Given the description of an element on the screen output the (x, y) to click on. 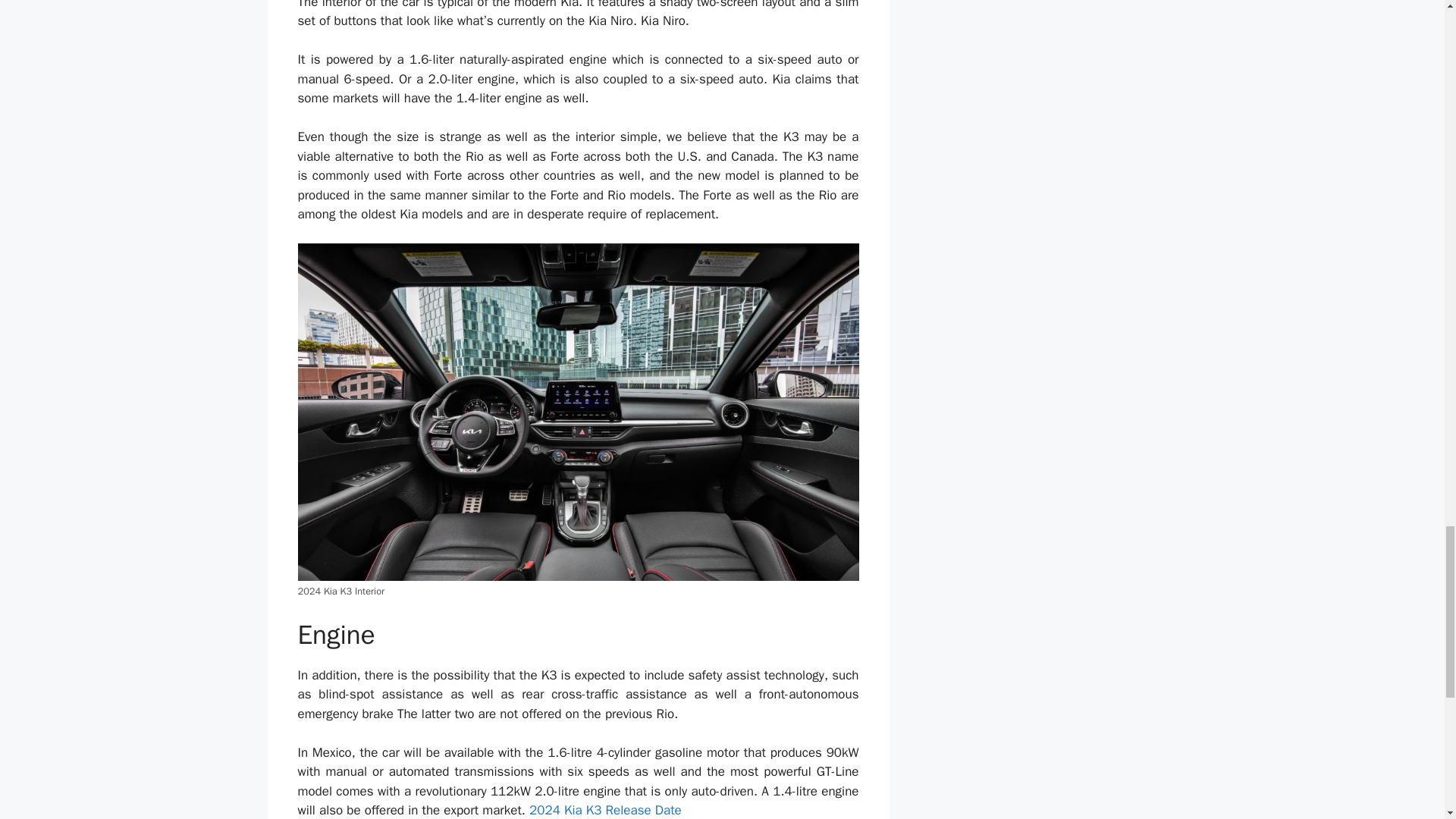
2024 Kia K3 Release Date (605, 810)
